Given the description of an element on the screen output the (x, y) to click on. 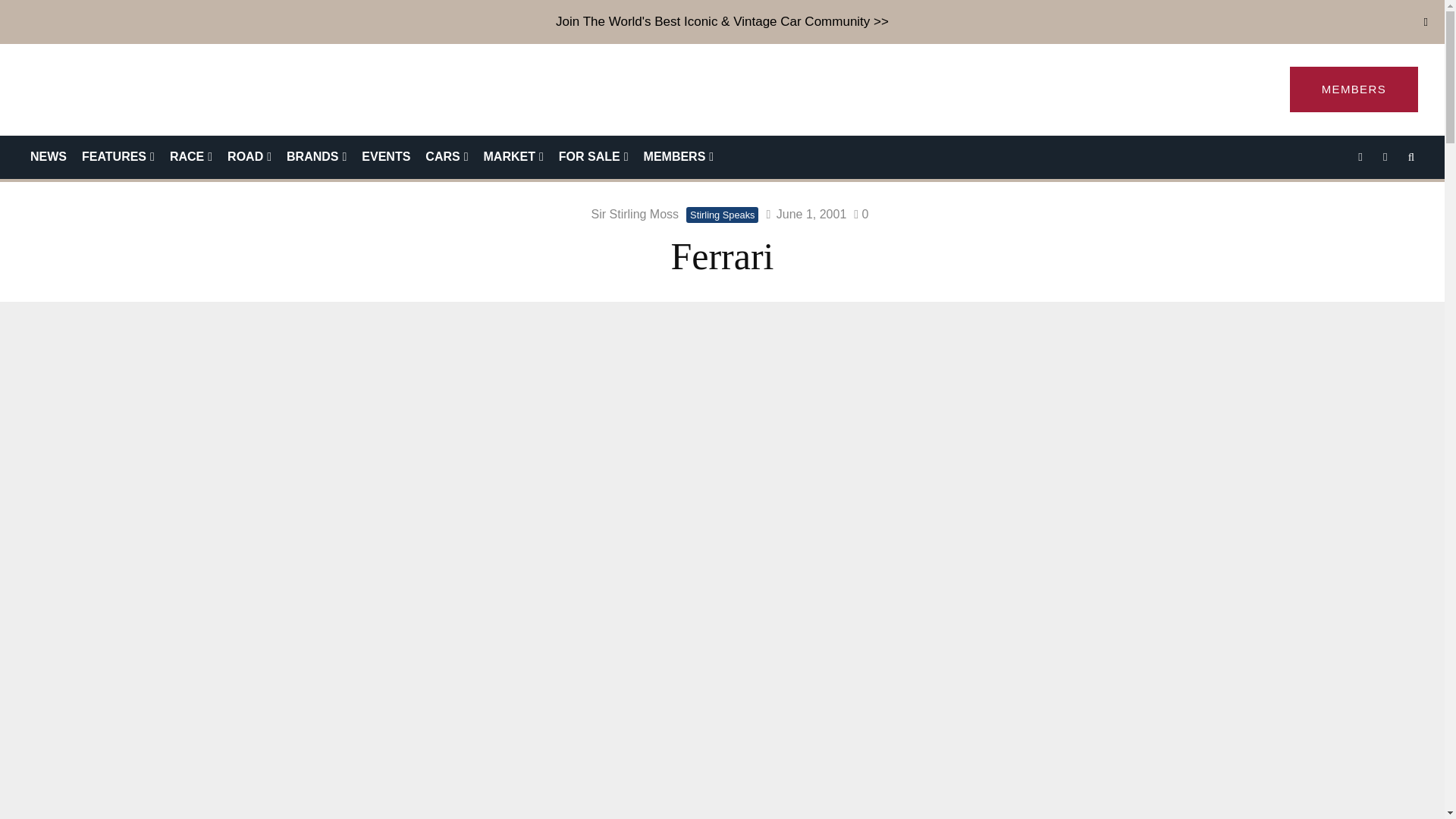
NEWS (48, 157)
RACE (190, 157)
MEMBERS (1354, 89)
FEATURES (117, 157)
